Given the description of an element on the screen output the (x, y) to click on. 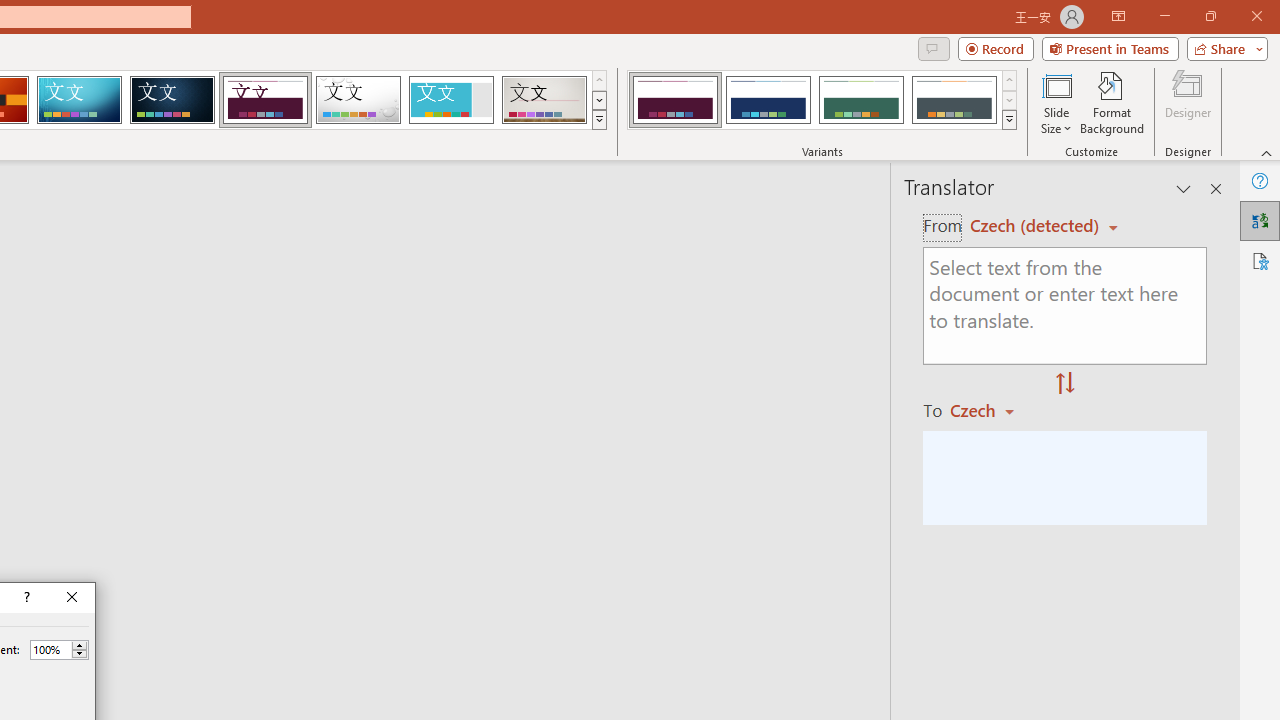
Percent (59, 650)
Czech (991, 409)
Dividend Variant 1 (674, 100)
Collapse the Ribbon (1267, 152)
Damask (171, 100)
Percent (50, 649)
Frame (450, 100)
Help (1260, 180)
Record (995, 48)
Close (72, 597)
Format Background (1111, 102)
Designer (1188, 102)
Minimize (1164, 16)
